Given the description of an element on the screen output the (x, y) to click on. 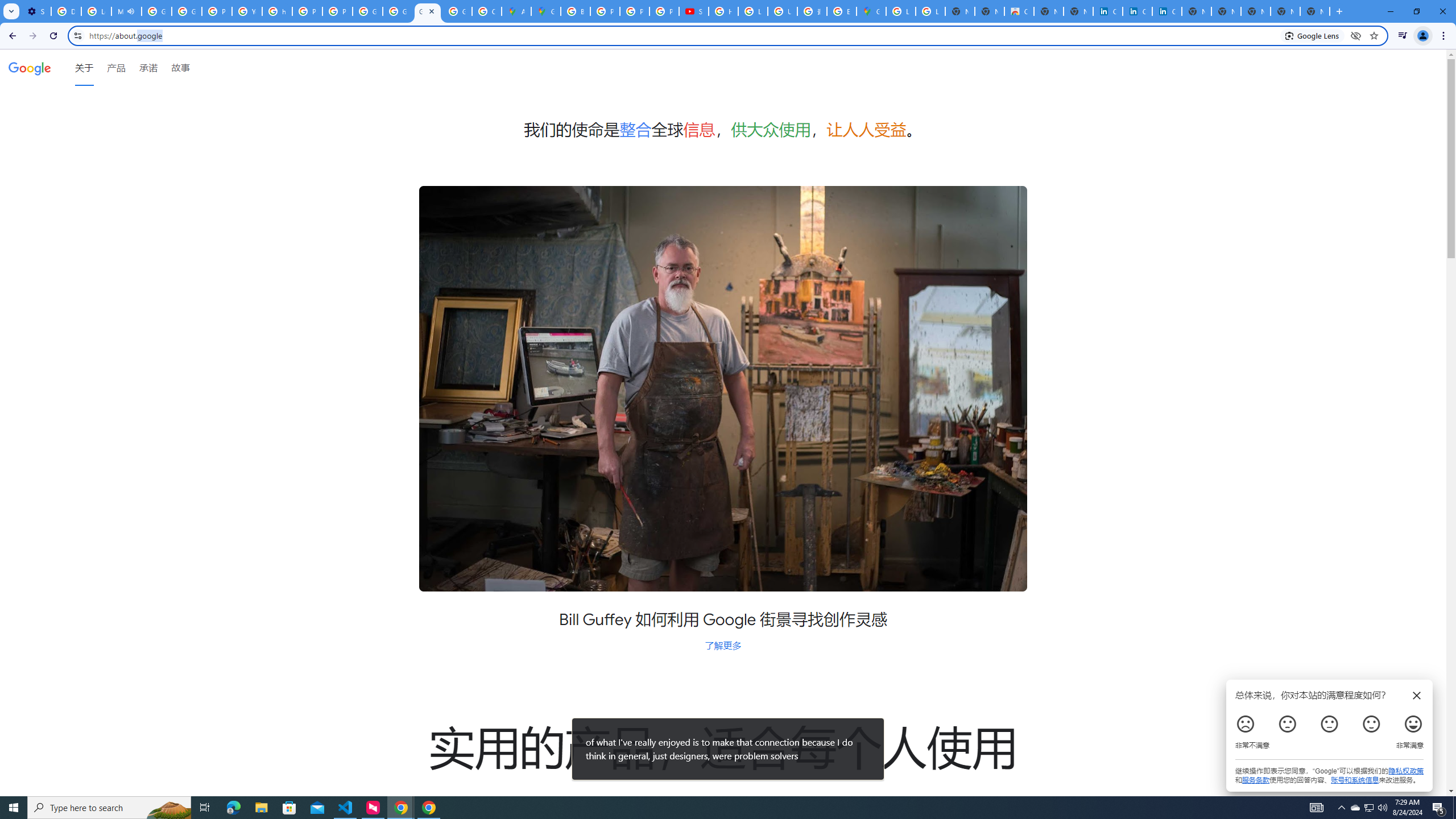
Blogger Policies and Guidelines - Transparency Center (575, 11)
Google Maps (871, 11)
Google Maps (545, 11)
How Chrome protects your passwords - Google Chrome Help (723, 11)
